Given the description of an element on the screen output the (x, y) to click on. 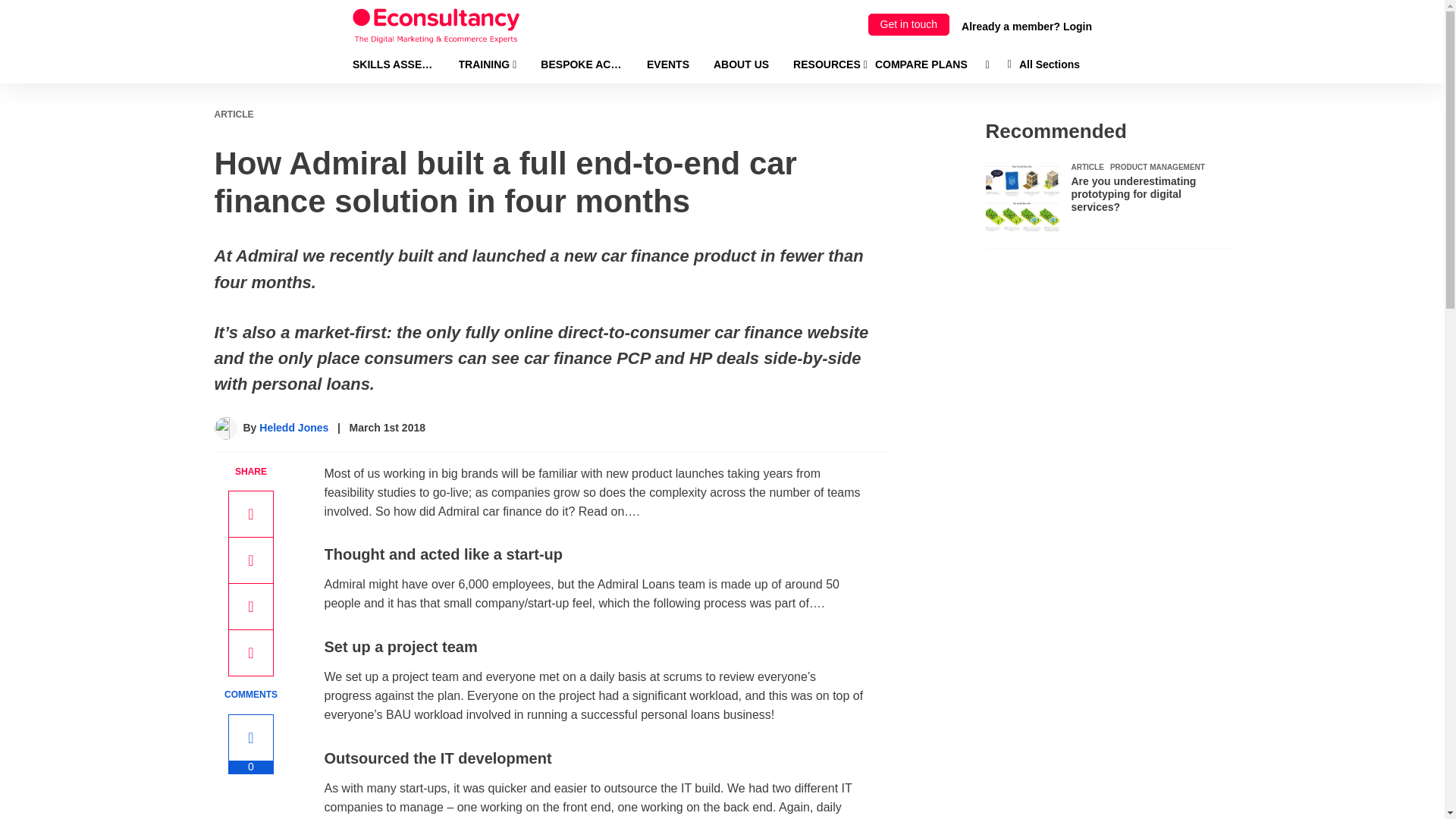
RESOURCES (830, 64)
Already a member? Login (1026, 26)
BESPOKE ACADEMIES (581, 64)
EVENTS (667, 64)
COMPARE PLANS (921, 64)
All Sections (1043, 64)
ABOUT US (740, 64)
Posts by Heledd Jones (294, 427)
SKILLS ASSESSMENT (392, 64)
Get in touch (908, 24)
TRAINING (487, 64)
